Given the description of an element on the screen output the (x, y) to click on. 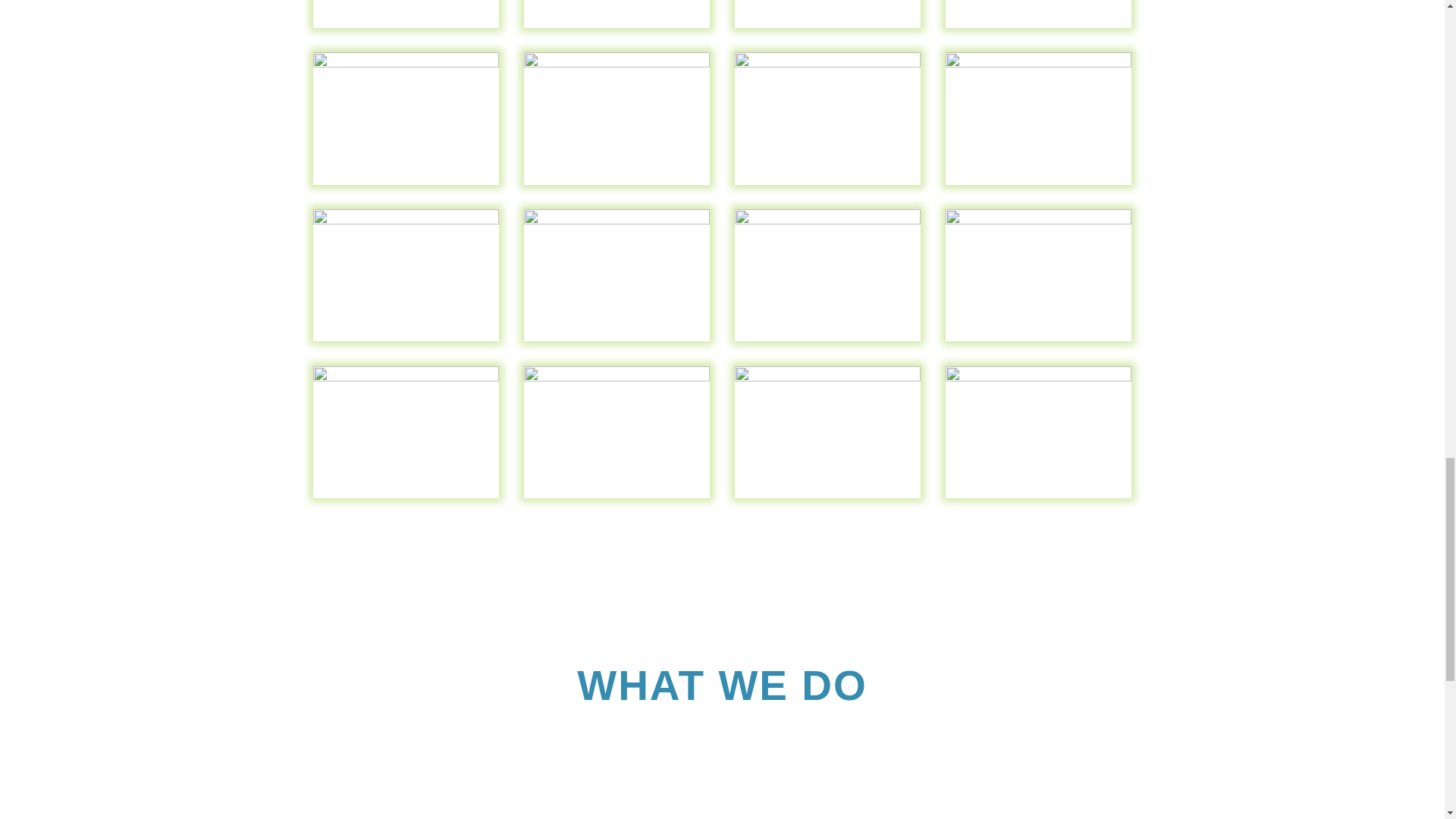
8 (1038, 28)
4 (406, 28)
13 (406, 340)
15 (828, 340)
6 (617, 28)
7 (828, 28)
9 (406, 184)
12 (1038, 184)
10 (617, 184)
17 (406, 498)
16 (1038, 340)
14 (617, 340)
11 (828, 184)
